Given the description of an element on the screen output the (x, y) to click on. 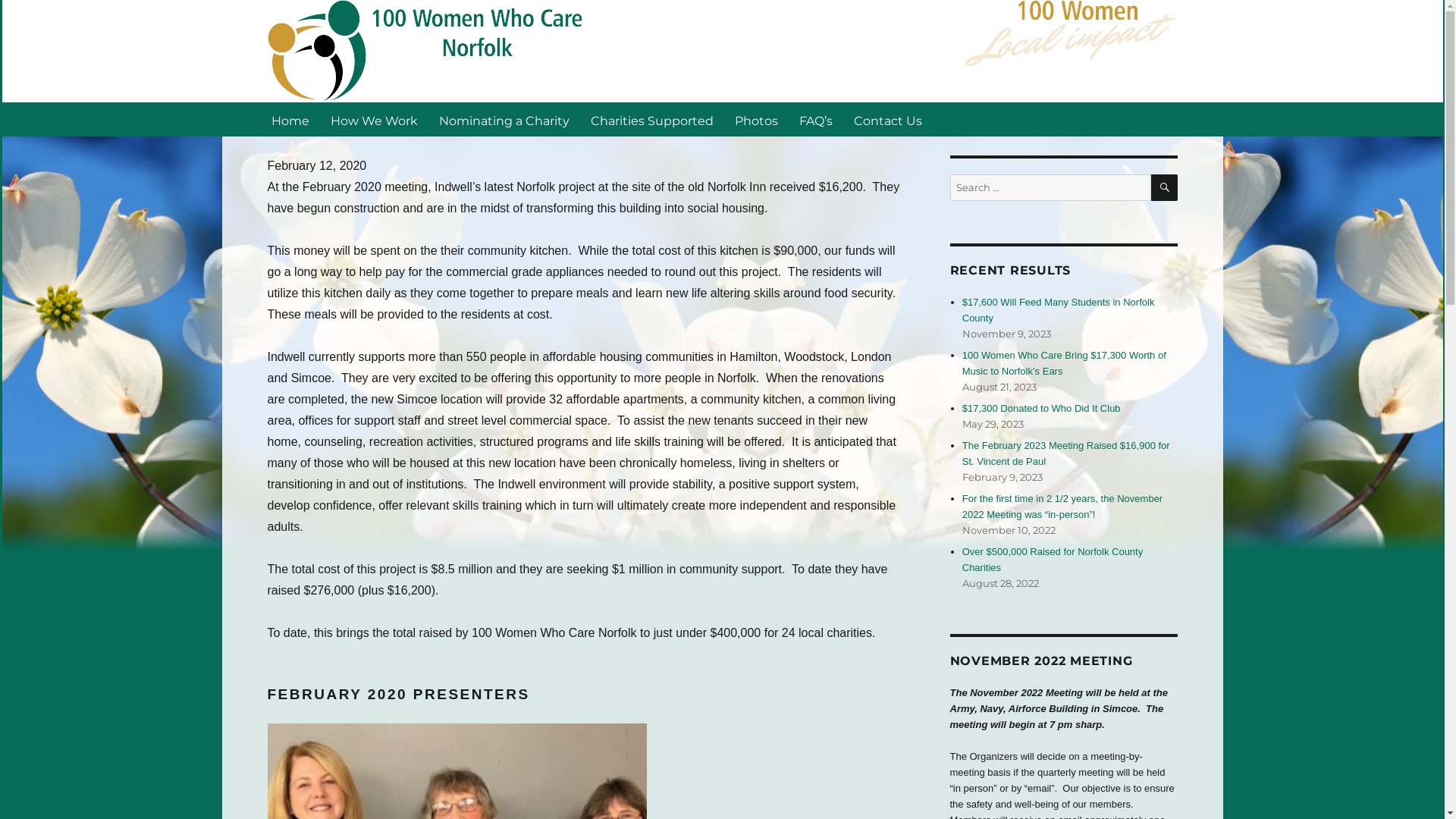
Nominating a Charity Element type: text (503, 120)
$17,600 Will Feed Many Students in Norfolk County Element type: text (1058, 309)
SEARCH Element type: text (1164, 187)
Home Element type: text (290, 120)
Contact Us Element type: text (887, 120)
Over $500,000 Raised for Norfolk County Charities Element type: text (1052, 559)
Charities Supported Element type: text (651, 120)
$17,300 Donated to Who Did It Club Element type: text (1041, 408)
How We Work Element type: text (374, 120)
Photos Element type: text (755, 120)
